Given the description of an element on the screen output the (x, y) to click on. 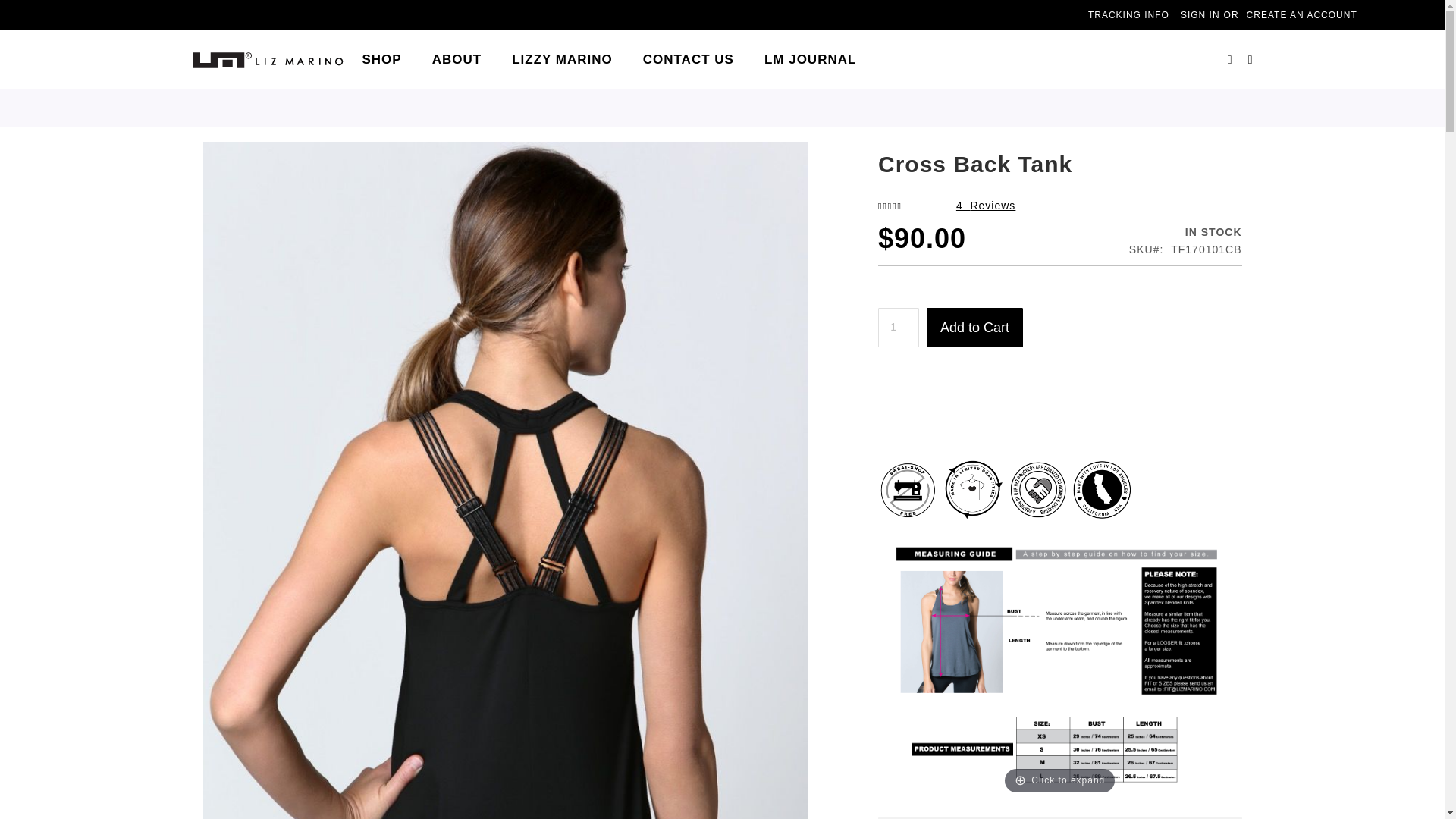
CONTACT US (688, 59)
SIGN IN (1200, 15)
LIZZY MARINO (561, 59)
Qty (897, 327)
TRACKING INFO (1128, 15)
Availability (1185, 232)
LM JOURNAL (809, 59)
CREATE AN ACCOUNT (1301, 15)
ABOUT (456, 59)
Add to Cart (974, 327)
